Given the description of an element on the screen output the (x, y) to click on. 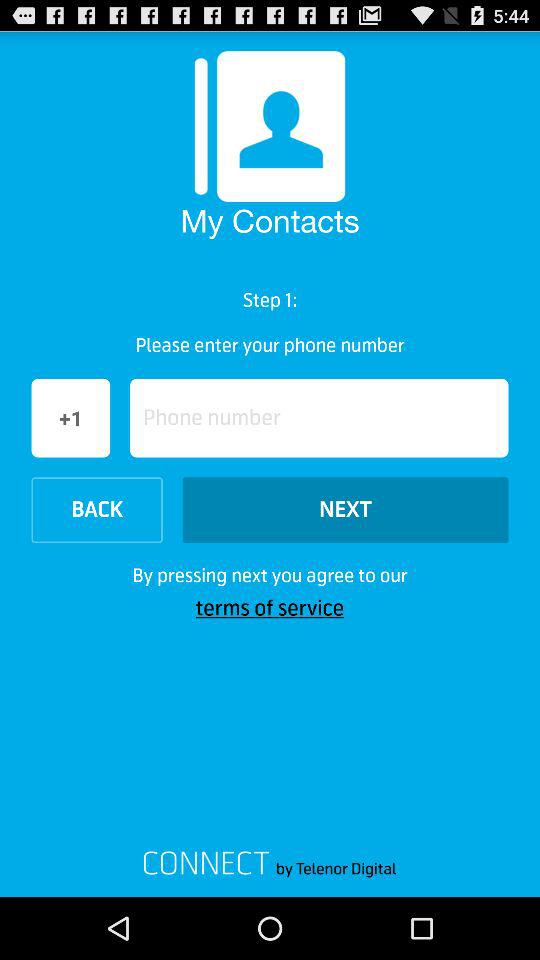
jump until the terms of service icon (269, 608)
